Given the description of an element on the screen output the (x, y) to click on. 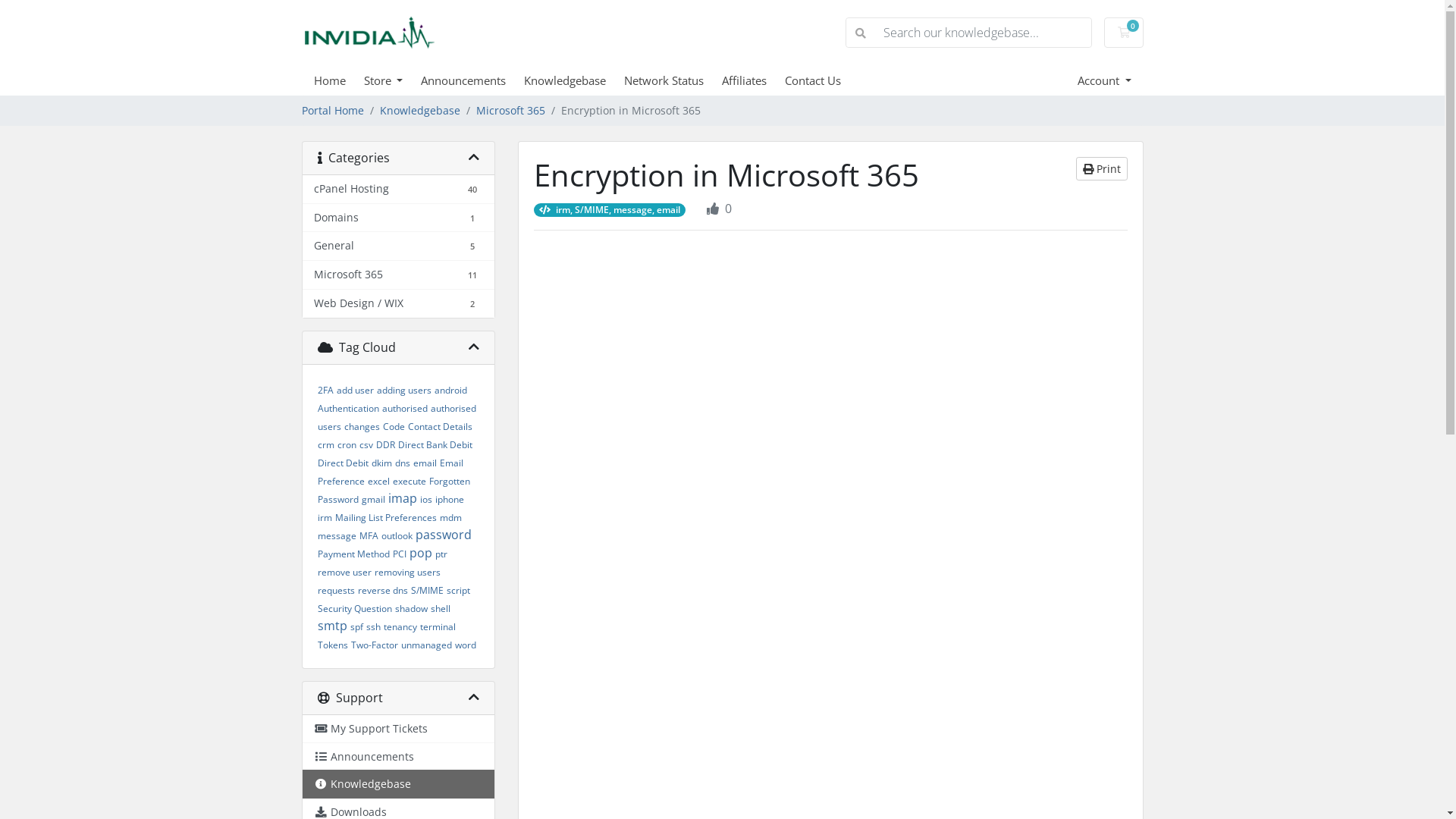
Print Element type: text (1100, 168)
MFA Element type: text (368, 535)
authorised Element type: text (404, 407)
remove user Element type: text (343, 571)
script Element type: text (457, 589)
shadow Element type: text (410, 608)
mdm Element type: text (450, 517)
Affiliates Element type: text (752, 79)
iphone Element type: text (449, 498)
Payment Method Element type: text (352, 553)
email Element type: text (424, 462)
Authentication Element type: text (347, 407)
Announcements Element type: text (397, 757)
Forgotten Password Element type: text (392, 489)
message Element type: text (335, 535)
gmail Element type: text (372, 498)
Portal Home Element type: text (332, 110)
adding users Element type: text (403, 389)
Code Element type: text (393, 426)
0
Shopping Cart Element type: text (1123, 32)
dns Element type: text (401, 462)
Email Preference Element type: text (389, 471)
terminal Element type: text (437, 626)
ios Element type: text (426, 498)
Contact Details Element type: text (439, 426)
excel Element type: text (378, 480)
unmanaged Element type: text (425, 644)
Web Design / WIX
2 Element type: text (397, 303)
pop Element type: text (420, 552)
smtp Element type: text (331, 625)
shell Element type: text (440, 608)
Security Question Element type: text (353, 608)
irm Element type: text (323, 517)
Microsoft 365 Element type: text (510, 110)
2FA Element type: text (324, 389)
removing users Element type: text (407, 571)
android Element type: text (449, 389)
Direct Bank Debit Element type: text (434, 444)
changes Element type: text (361, 426)
PCI Element type: text (399, 553)
Knowledgebase Element type: text (397, 783)
execute Element type: text (409, 480)
Mailing List Preferences Element type: text (385, 517)
Store Element type: text (392, 79)
ssh Element type: text (372, 626)
cPanel Hosting
40 Element type: text (397, 189)
ptr Element type: text (441, 553)
General
5 Element type: text (397, 246)
Contact Us Element type: text (821, 79)
dkim Element type: text (381, 462)
Account Element type: text (1104, 79)
Network Status Element type: text (672, 79)
Domains
1 Element type: text (397, 217)
My Support Tickets Element type: text (397, 729)
S/MIME Element type: text (427, 589)
Two-Factor Element type: text (373, 644)
Direct Debit Element type: text (341, 462)
password Element type: text (443, 534)
word Element type: text (465, 644)
Microsoft 365
11 Element type: text (397, 274)
cron Element type: text (345, 444)
outlook Element type: text (395, 535)
requests Element type: text (335, 589)
Home Element type: text (338, 79)
DDR Element type: text (385, 444)
Tokens Element type: text (331, 644)
spf Element type: text (356, 626)
Announcements Element type: text (472, 79)
reverse dns Element type: text (382, 589)
Knowledgebase Element type: text (574, 79)
Knowledgebase Element type: text (419, 110)
imap Element type: text (402, 497)
crm Element type: text (324, 444)
authorised users Element type: text (395, 417)
tenancy Element type: text (400, 626)
add user Element type: text (354, 389)
csv Element type: text (366, 444)
